Given the description of an element on the screen output the (x, y) to click on. 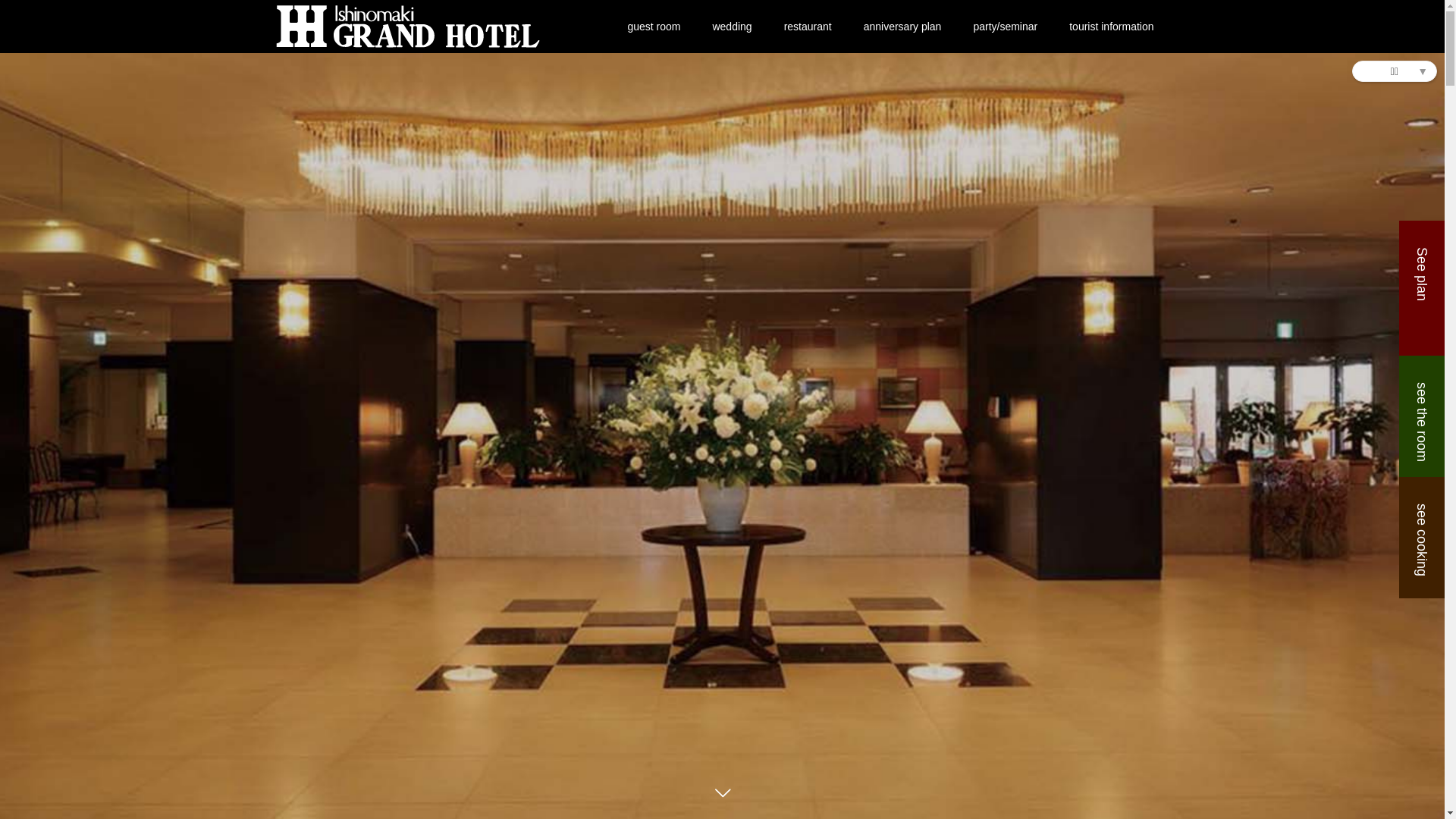
anniversary plan Element type: text (902, 26)
guest room Element type: text (653, 26)
party/seminar Element type: text (1005, 26)
see cooking Element type: text (1421, 537)
wedding Element type: text (731, 26)
see the room Element type: text (1421, 415)
restaurant Element type: text (807, 26)
tourist information Element type: text (1111, 26)
See plan Element type: text (1421, 287)
